Given the description of an element on the screen output the (x, y) to click on. 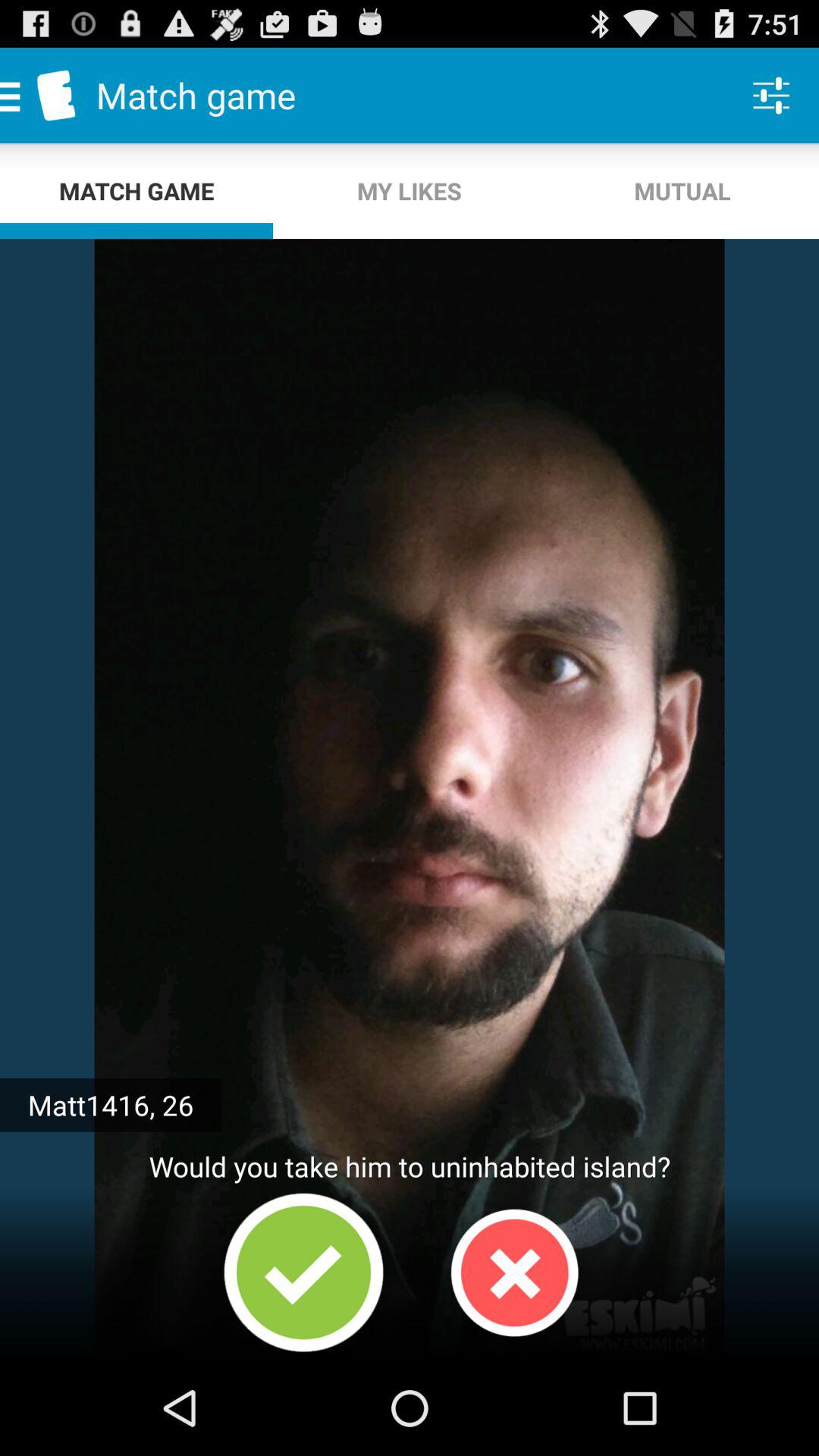
decline the question (514, 1272)
